Given the description of an element on the screen output the (x, y) to click on. 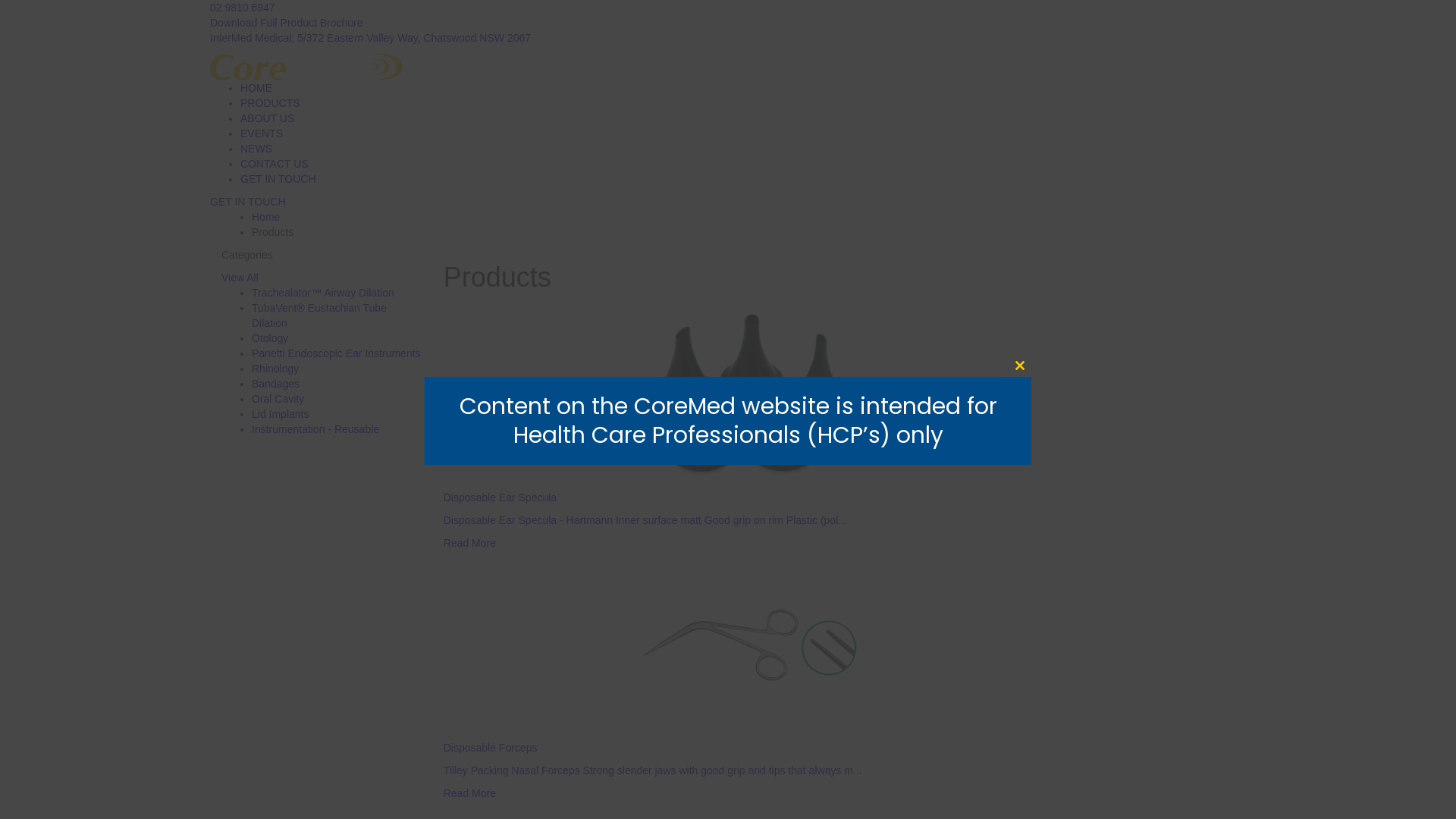
Home Element type: text (265, 216)
CoreMed Element type: hover (306, 65)
Instrumentation - Reusable Element type: text (315, 429)
GET IN TOUCH Element type: text (247, 201)
PRODUCTS Element type: text (270, 103)
CONTACT US Element type: text (274, 163)
Lid Implants Element type: text (279, 413)
Panetti Endoscopic Ear Instruments Element type: text (335, 353)
EVENTS Element type: text (261, 133)
Rhinology Element type: text (274, 368)
Close this module Element type: text (1019, 365)
View All Element type: text (239, 277)
Download Full Product Brochure Element type: text (286, 22)
Oral Cavity Element type: text (277, 398)
GET IN TOUCH Element type: text (278, 178)
02 9810 6947 Element type: text (242, 7)
Bandages Element type: text (275, 383)
Otology Element type: text (269, 338)
ABOUT US Element type: text (267, 118)
HOME Element type: text (256, 87)
NEWS Element type: text (256, 148)
